Given the description of an element on the screen output the (x, y) to click on. 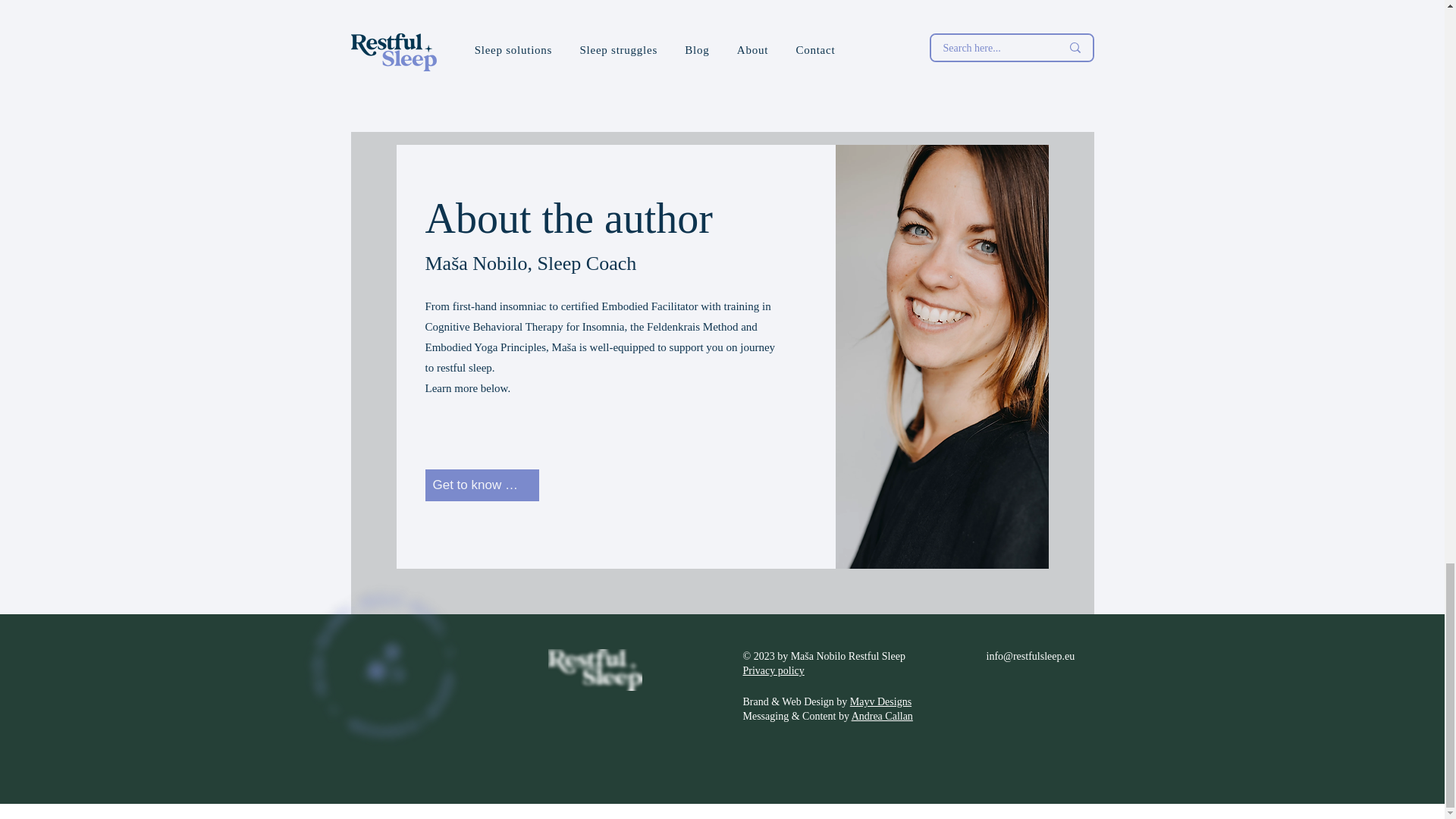
Seventy Plus (720, 17)
Mayv Designs (880, 701)
Life in Technicolour (475, 17)
Andrea Callan (881, 715)
Tightwire Act (966, 17)
Privacy policy (773, 670)
